Given the description of an element on the screen output the (x, y) to click on. 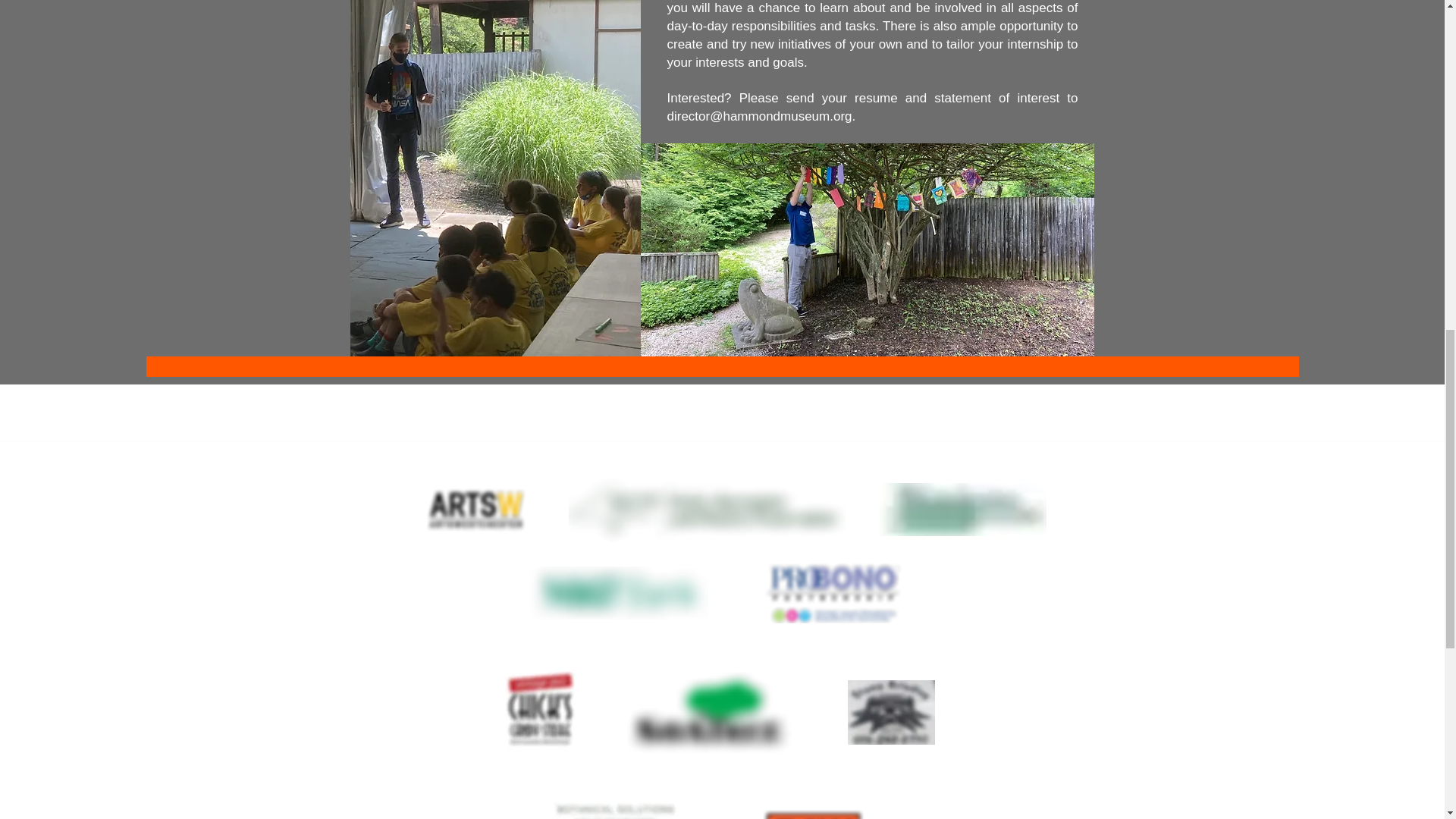
Pro Bono Logo (832, 590)
